Given the description of an element on the screen output the (x, y) to click on. 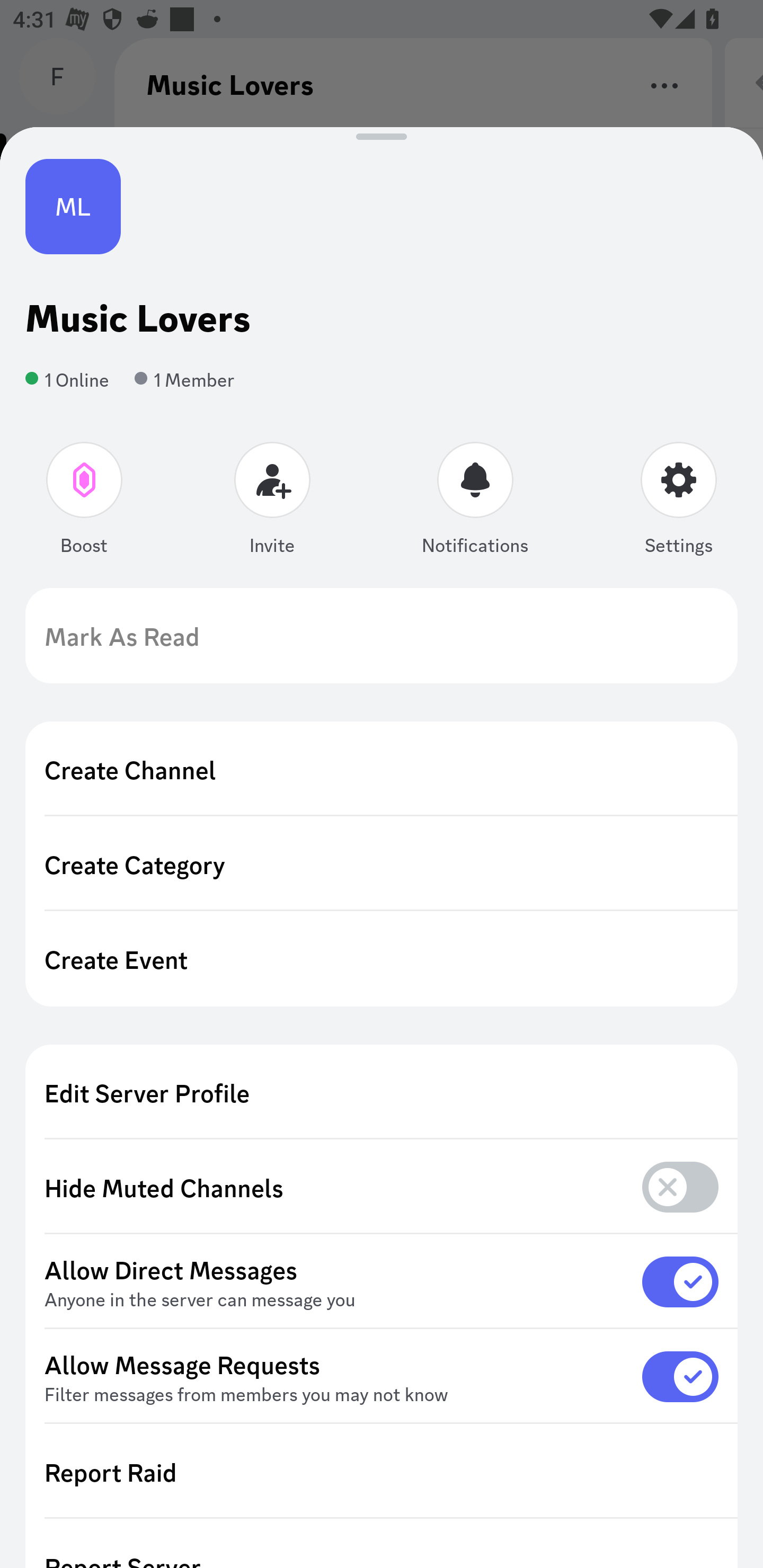
Boost (84, 502)
Invite (272, 502)
Notifications (475, 502)
Settings (678, 502)
Mark As Read (381, 635)
Create Channel (381, 768)
Create Category (381, 863)
Create Event (381, 958)
Edit Server Profile (381, 1091)
off Hide Muted Channels,  Hide Muted Channels off (381, 1187)
off (680, 1186)
on (680, 1281)
on (680, 1376)
Report Raid (381, 1471)
